Given the description of an element on the screen output the (x, y) to click on. 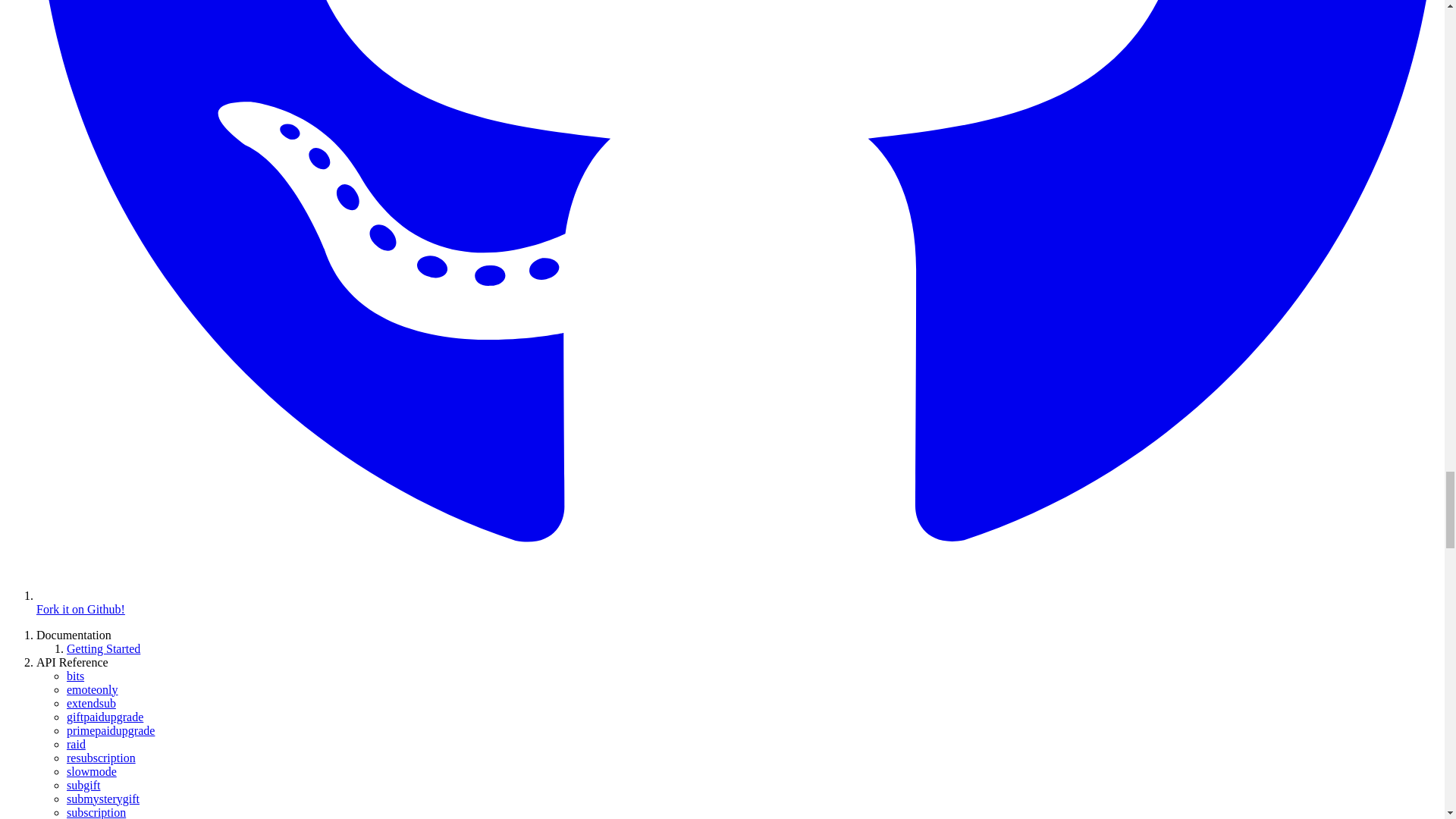
bits (75, 675)
subscription (95, 812)
raid (75, 744)
extendsub (91, 703)
giftpaidupgrade (104, 716)
resubscription (100, 757)
slowmode (91, 771)
emoteonly (91, 689)
submysterygift (102, 798)
primepaidupgrade (110, 730)
subgift (83, 784)
Getting Started (102, 648)
